Given the description of an element on the screen output the (x, y) to click on. 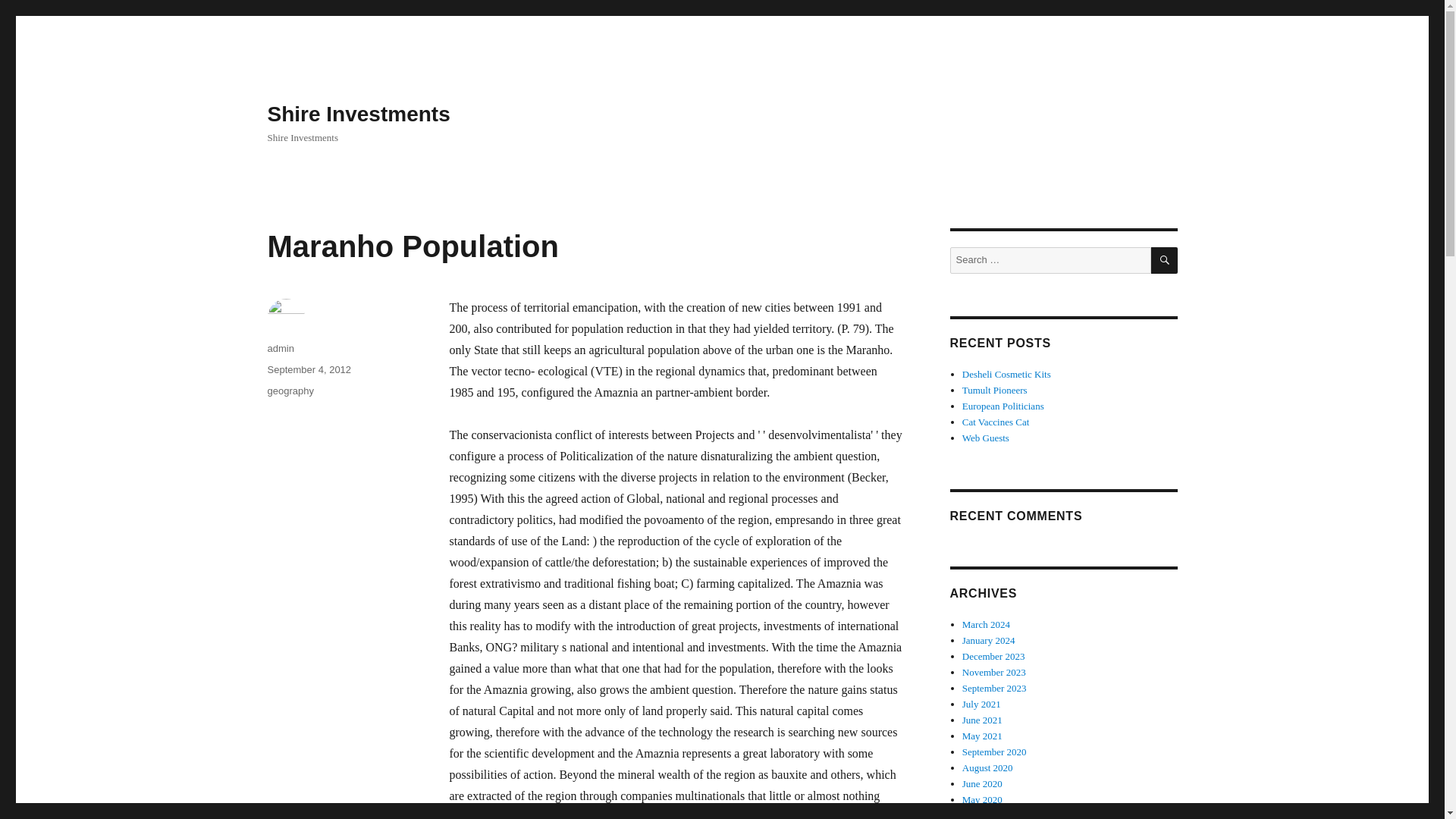
admin (280, 348)
geography (289, 390)
November 2023 (994, 672)
September 2020 (994, 751)
September 4, 2012 (308, 369)
Cat Vaccines Cat (995, 421)
SEARCH (1164, 260)
Desheli Cosmetic Kits (1006, 374)
December 2023 (993, 655)
April 2020 (984, 814)
